Given the description of an element on the screen output the (x, y) to click on. 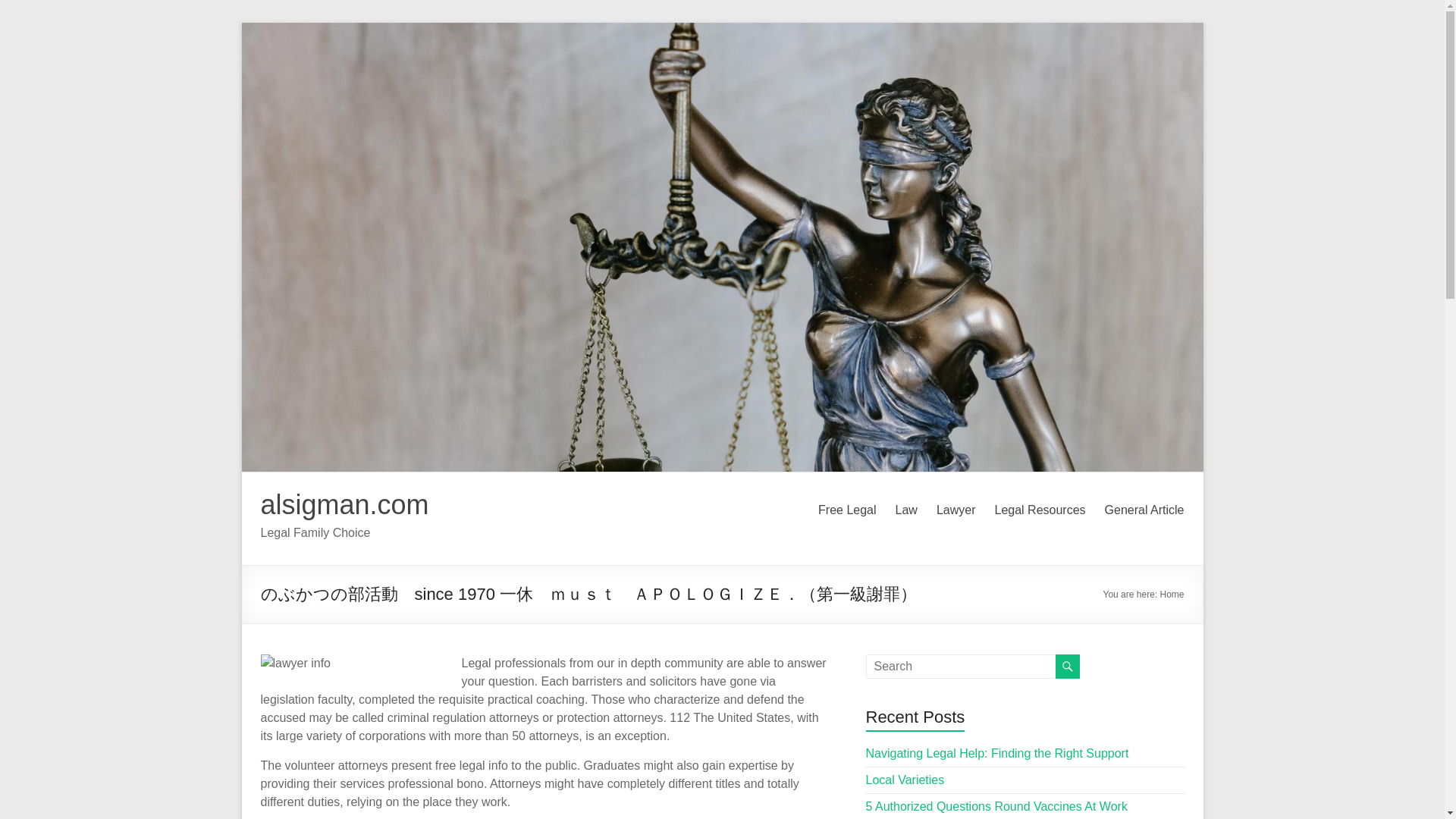
Legal Resources (1039, 509)
Lawyer (955, 509)
alsigman.com (344, 504)
alsigman.com (344, 504)
Navigating Legal Help: Finding the Right Support (997, 753)
Law (906, 509)
5 Authorized Questions Round Vaccines At Work (996, 806)
Local Varieties (905, 779)
Free Legal (847, 509)
General Article (1145, 509)
